Given the description of an element on the screen output the (x, y) to click on. 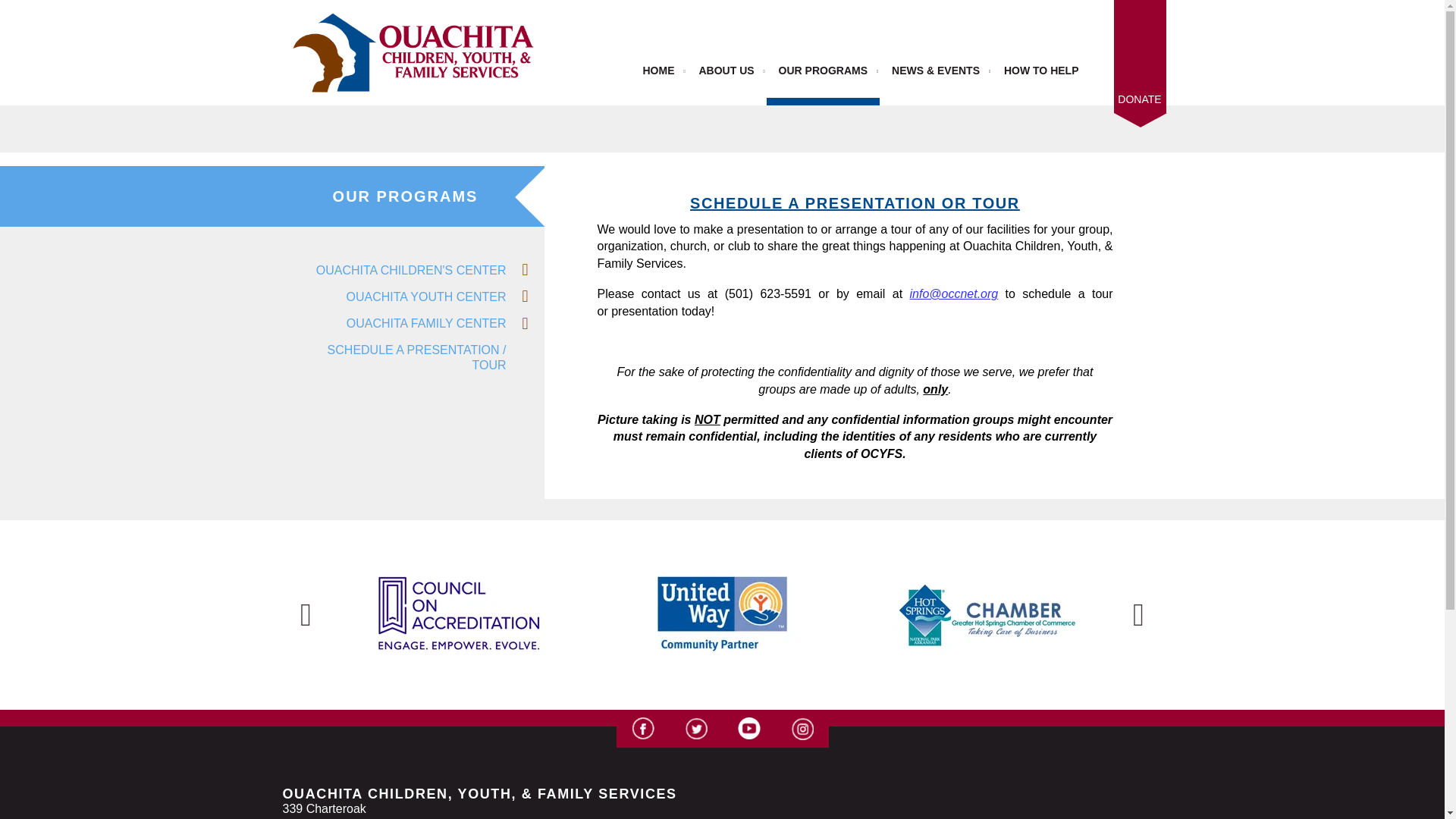
OUR PROGRAMS (823, 70)
ABOUT US (725, 70)
logo (414, 52)
